Given the description of an element on the screen output the (x, y) to click on. 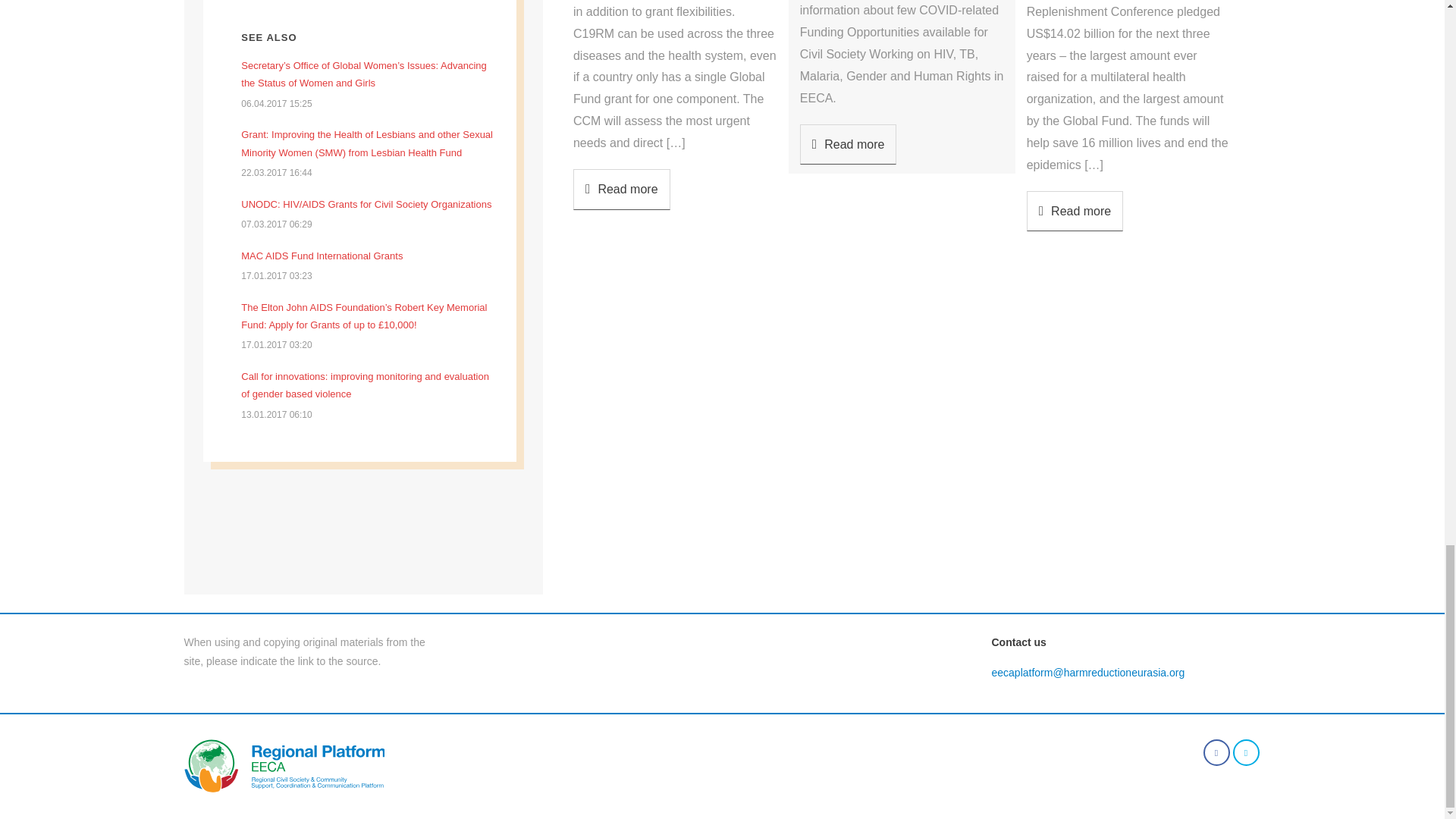
Read more (621, 188)
Read more (847, 144)
Read more (1075, 210)
